Given the description of an element on the screen output the (x, y) to click on. 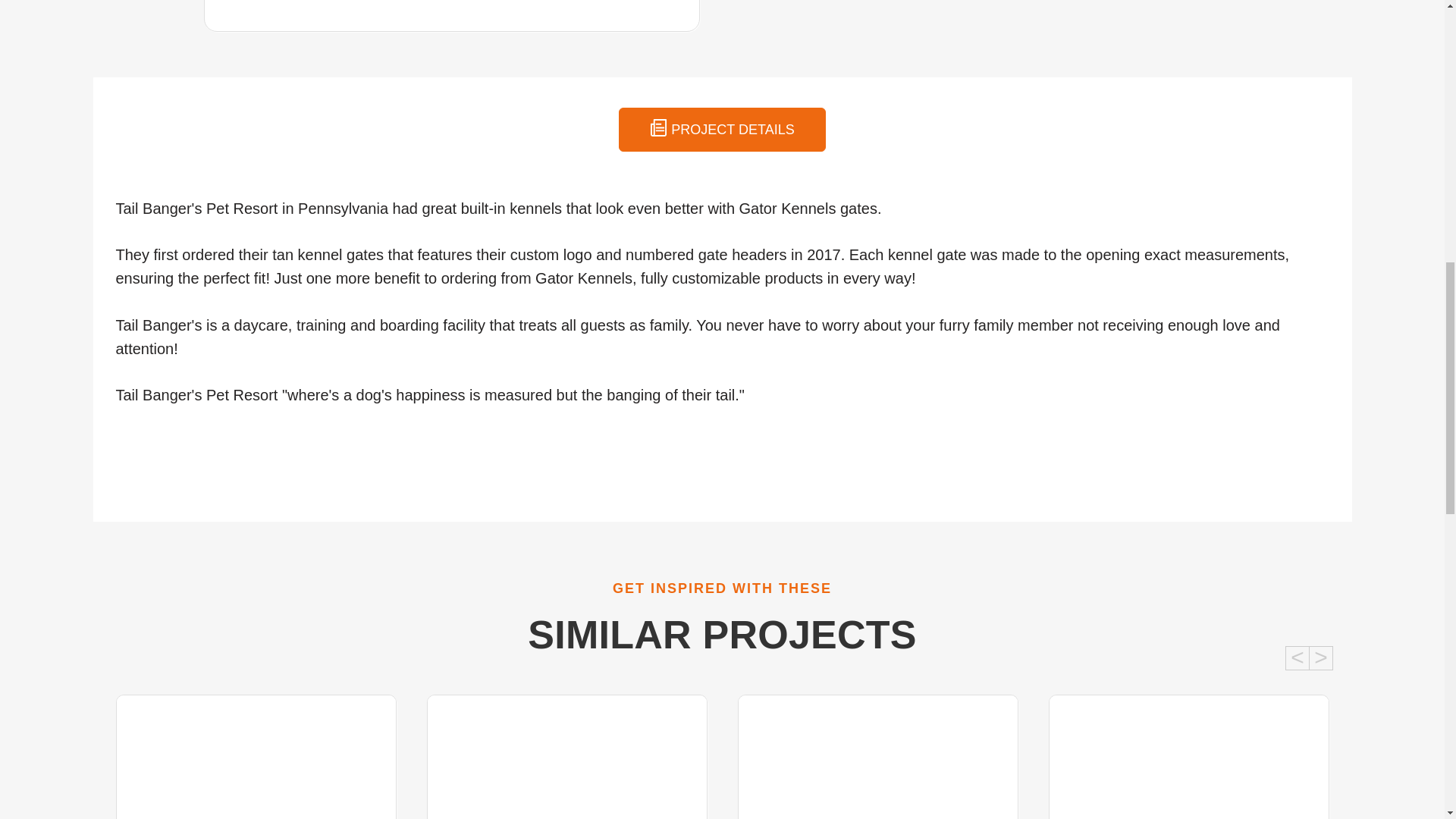
Tail Banger's Pet Resort custom gates. (452, 4)
